Given the description of an element on the screen output the (x, y) to click on. 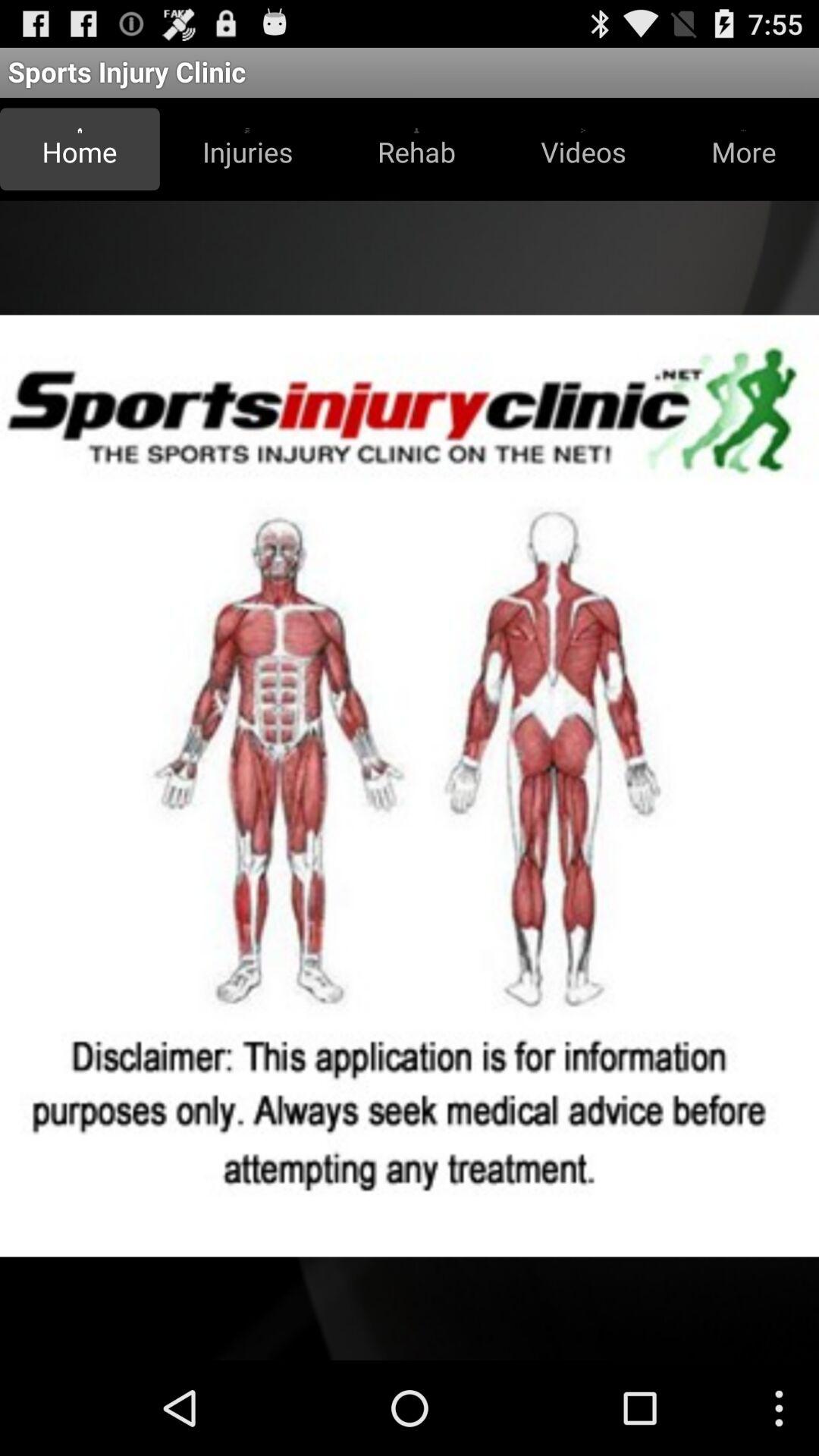
select the item to the left of the injuries (79, 149)
